Given the description of an element on the screen output the (x, y) to click on. 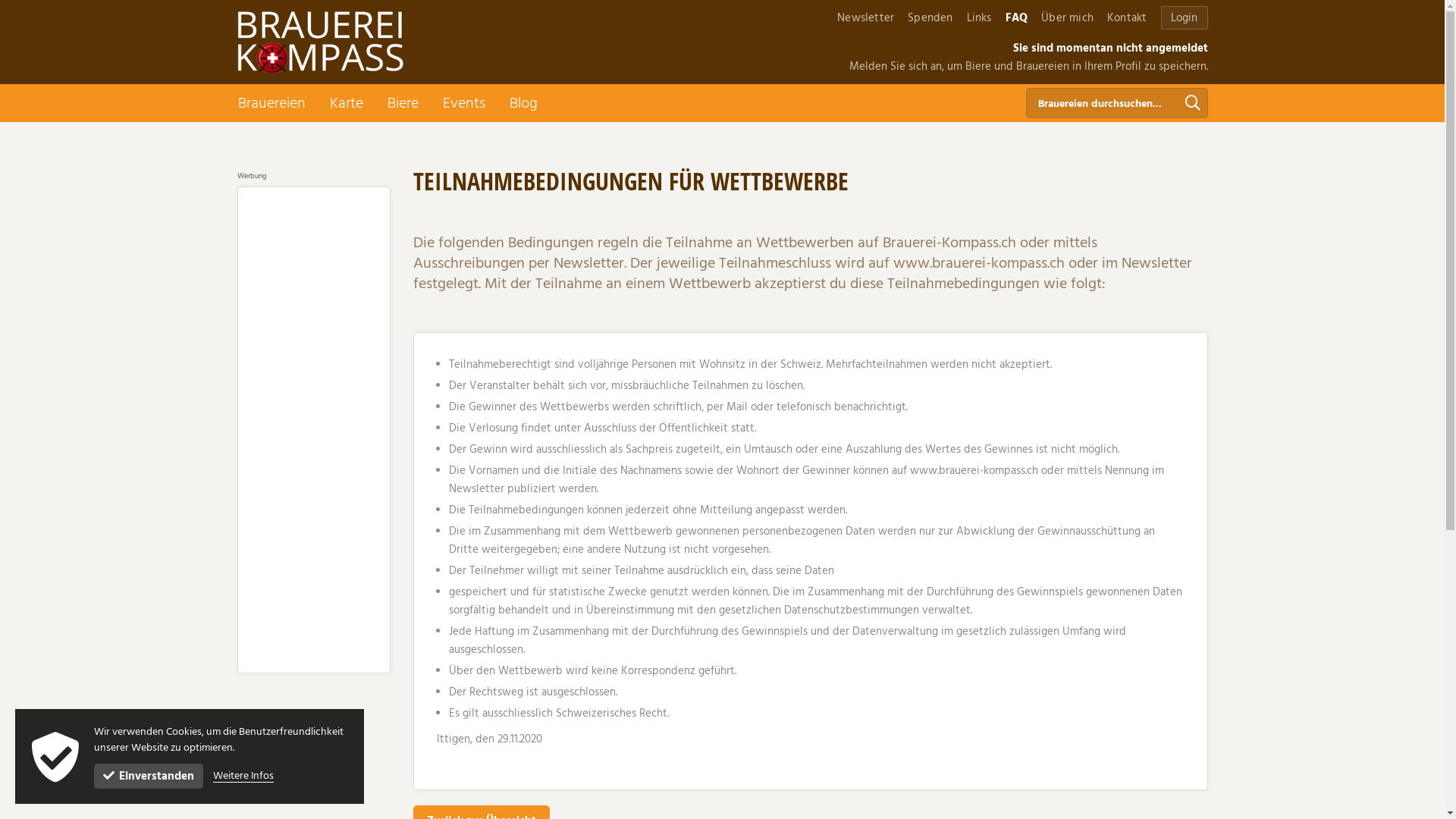
Events Element type: text (463, 103)
Newsletter Element type: text (865, 17)
Biere Element type: text (401, 103)
Links Element type: text (978, 17)
Weitere Infos Element type: text (243, 776)
Blog Element type: text (523, 103)
Karte Element type: text (345, 103)
FAQ Element type: text (1016, 17)
Login Element type: text (1183, 17)
Kontakt Element type: text (1126, 17)
Einverstanden Element type: text (148, 775)
Spenden Element type: text (929, 17)
Brauereien Element type: text (271, 103)
